Given the description of an element on the screen output the (x, y) to click on. 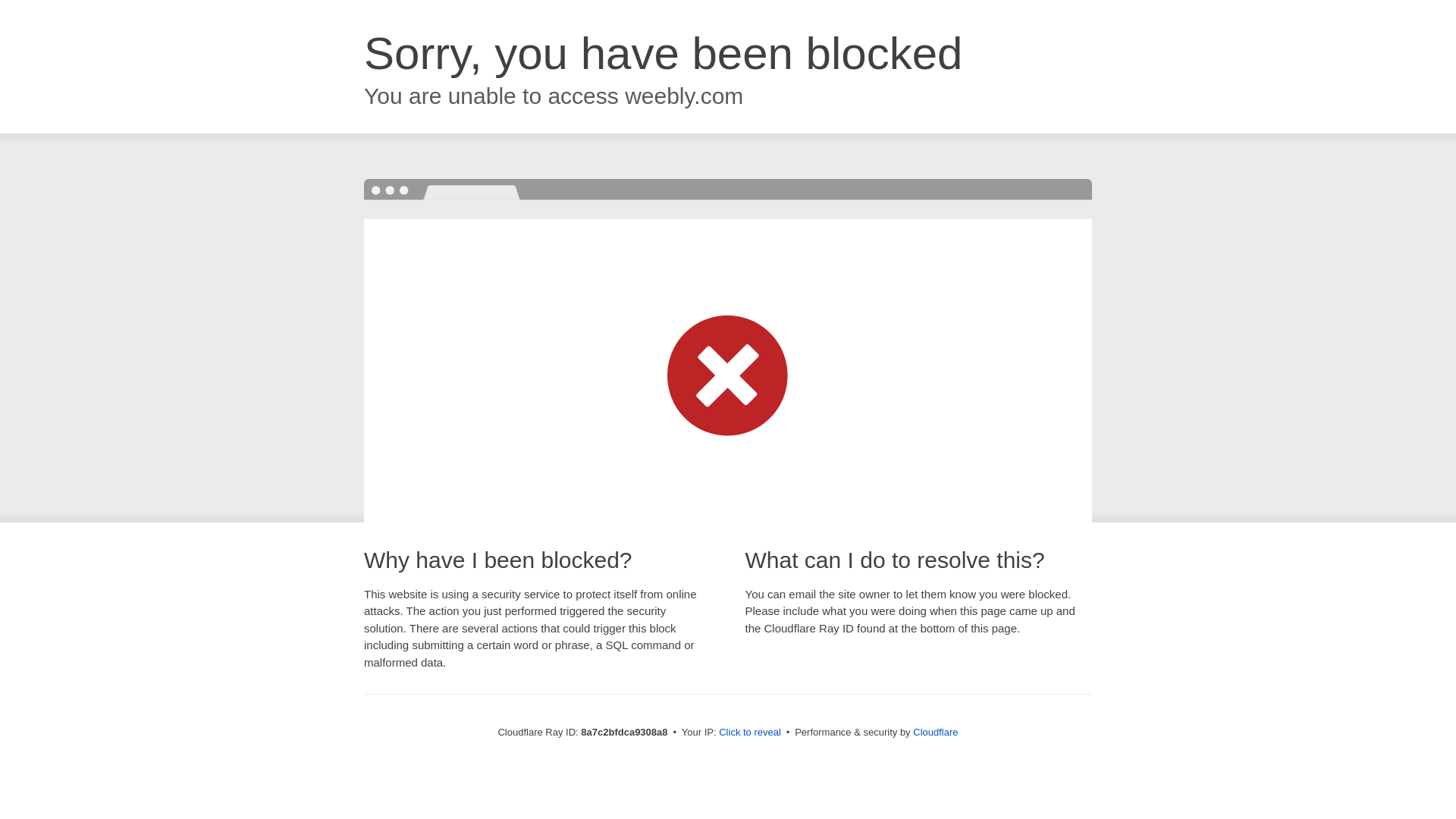
Cloudflare (935, 731)
Click to reveal (749, 732)
